Given the description of an element on the screen output the (x, y) to click on. 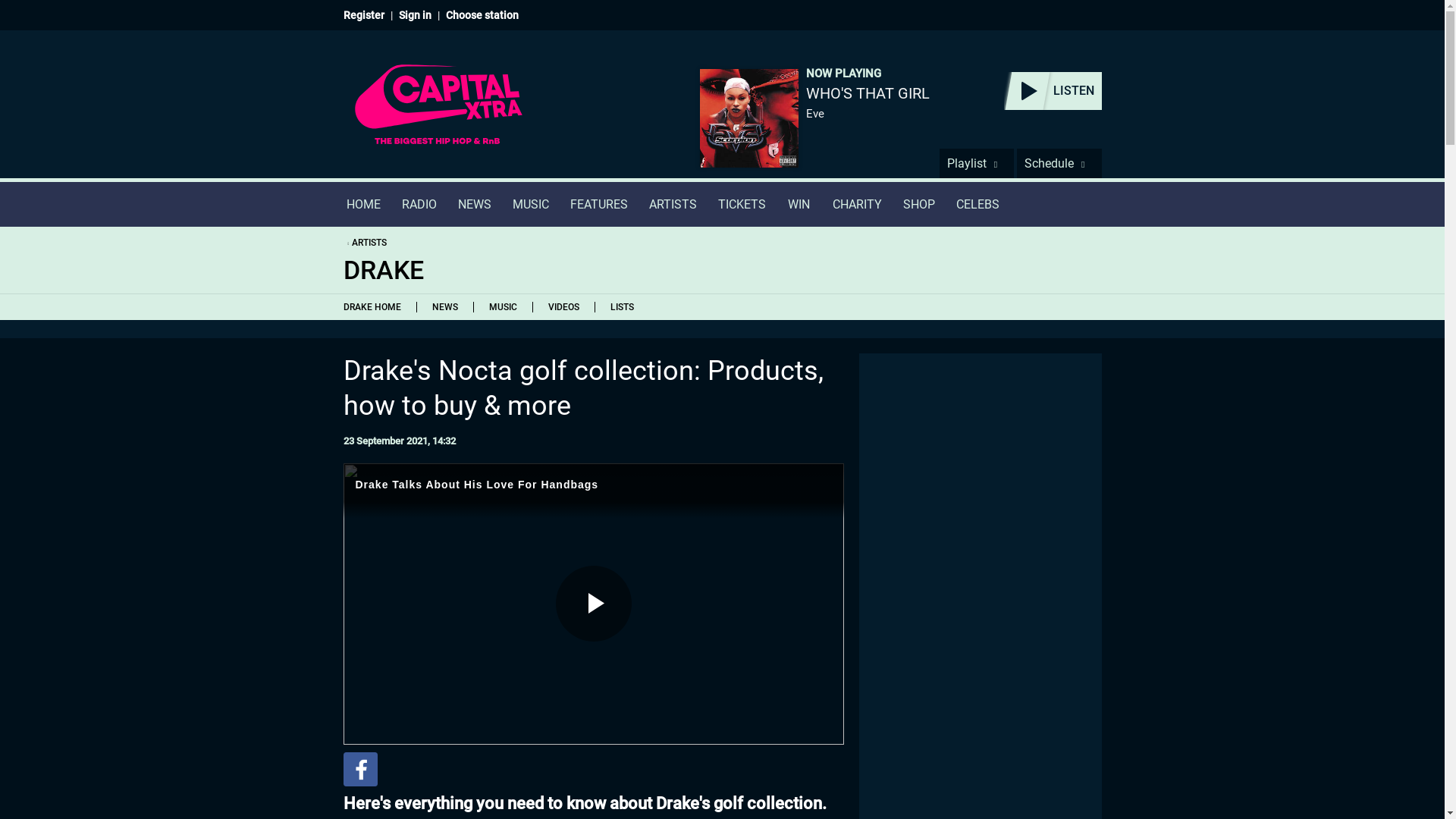
SHOP (917, 203)
Register (363, 15)
Playlist (976, 163)
NEWS (442, 307)
LISTEN (1053, 90)
MUSIC (502, 307)
WIN (799, 203)
MUSIC (530, 203)
LISTS (621, 307)
ARTISTS (673, 203)
